Given the description of an element on the screen output the (x, y) to click on. 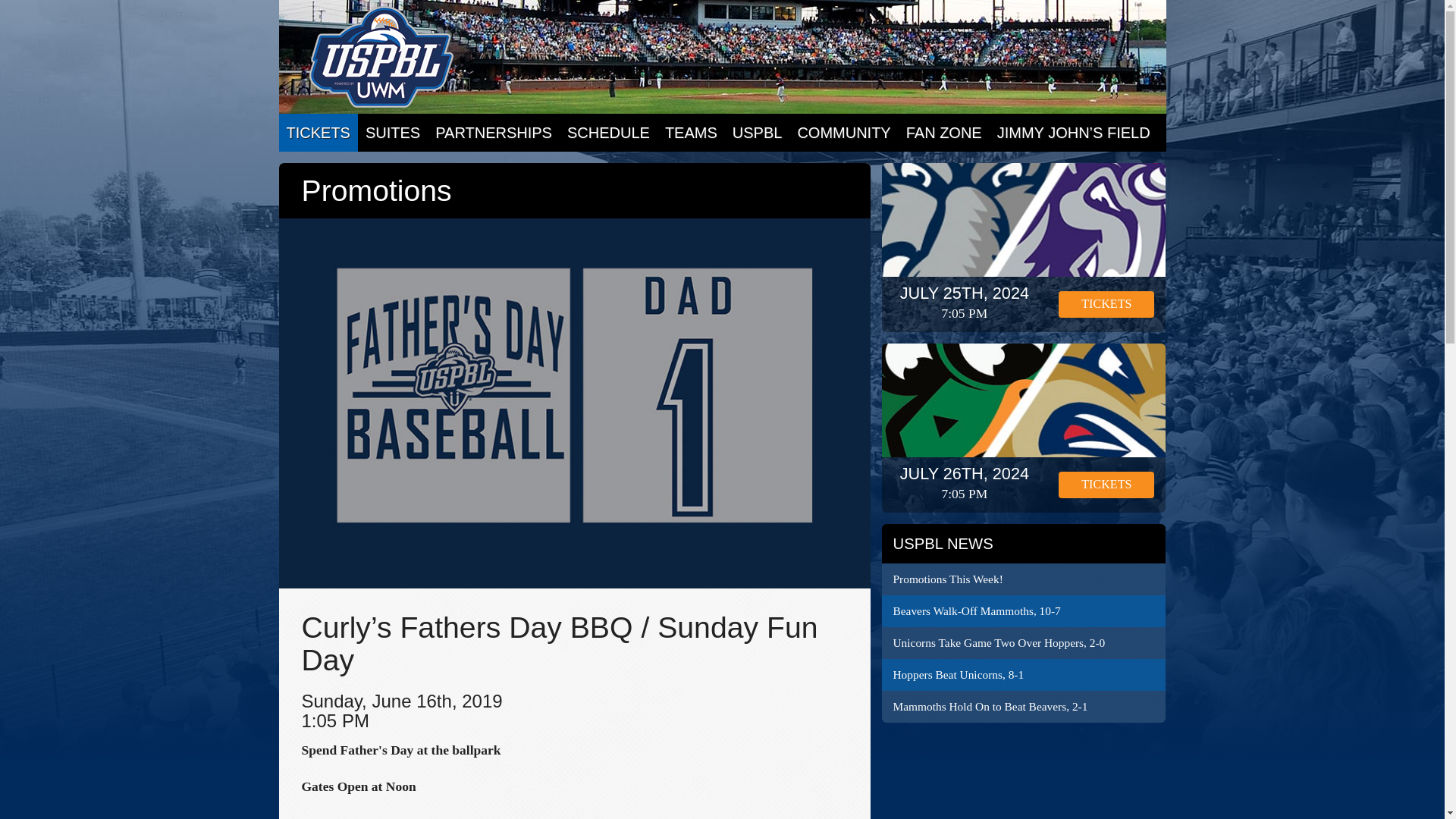
COMMUNITY (843, 132)
SCHEDULE (608, 132)
SUITES (393, 132)
PARTNERSHIPS (493, 132)
TEAMS (691, 132)
TICKETS (318, 132)
USPBL (757, 132)
